Given the description of an element on the screen output the (x, y) to click on. 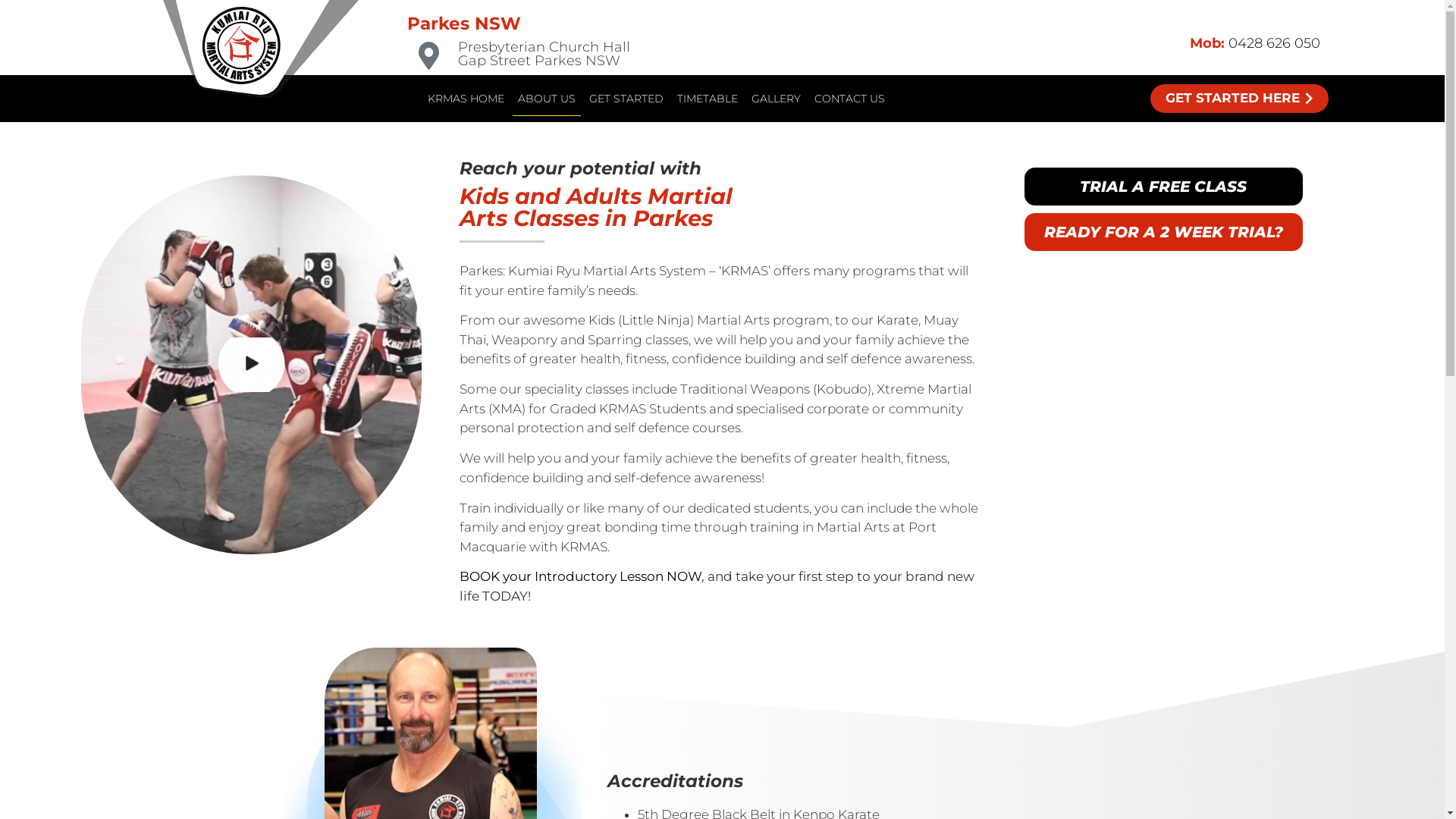
READY FOR A 2 WEEK TRIAL? Element type: text (1163, 232)
ABOUT US Element type: text (546, 98)
GET STARTED HERE Element type: text (1239, 98)
TRIAL A FREE CLASS Element type: text (1163, 186)
Mob: 0428 626 050 Element type: text (1254, 42)
GALLERY Element type: text (776, 98)
BOOK your Introductory Lesson NOW Element type: text (580, 575)
GET STARTED Element type: text (625, 98)
CONTACT US Element type: text (849, 98)
KRMAS HOME Element type: text (465, 98)
TIMETABLE Element type: text (707, 98)
play Element type: hover (251, 364)
